Given the description of an element on the screen output the (x, y) to click on. 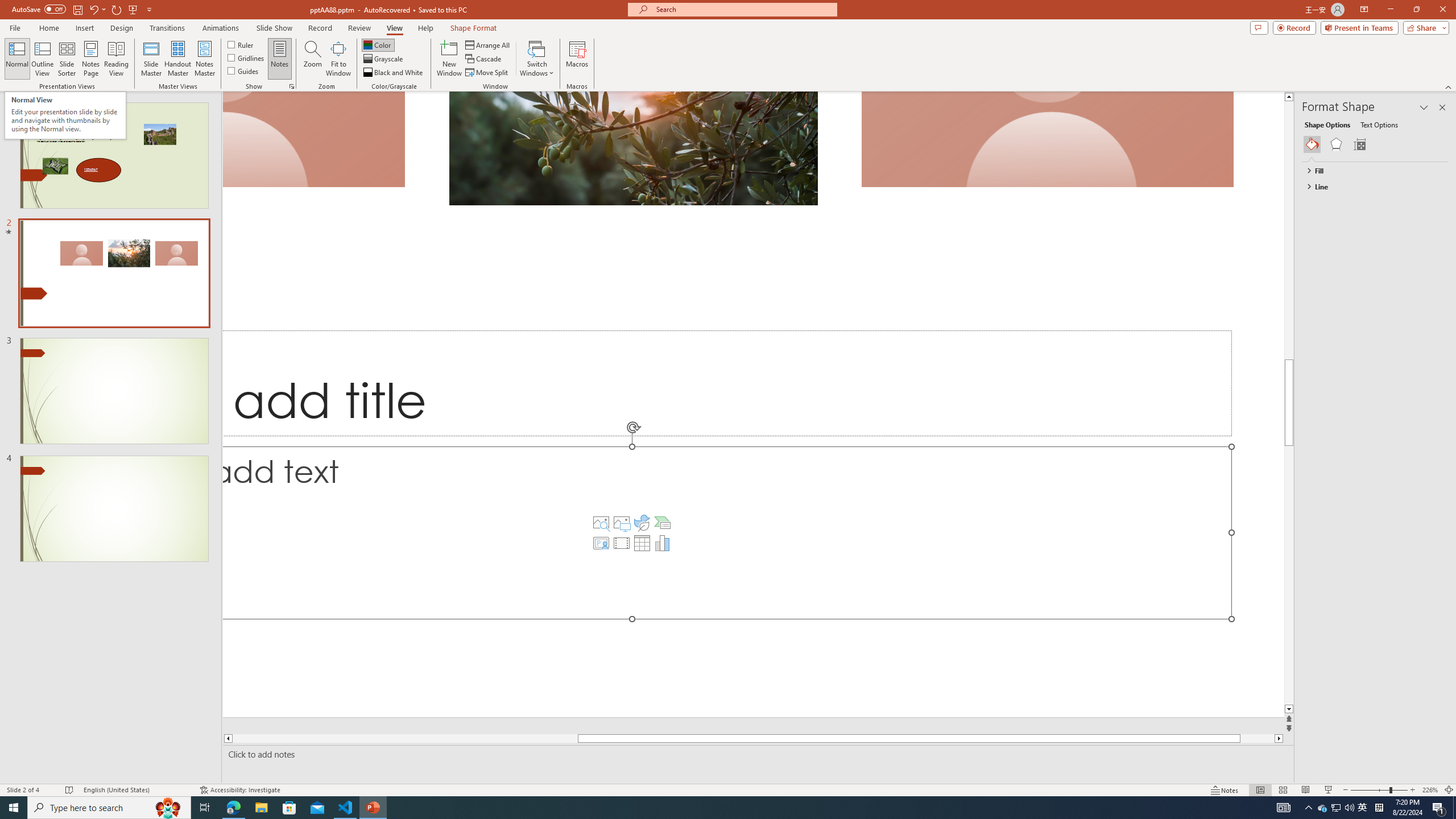
Content Placeholder (726, 533)
Move Split (487, 72)
Stock Images (601, 522)
Cascade (484, 58)
